Given the description of an element on the screen output the (x, y) to click on. 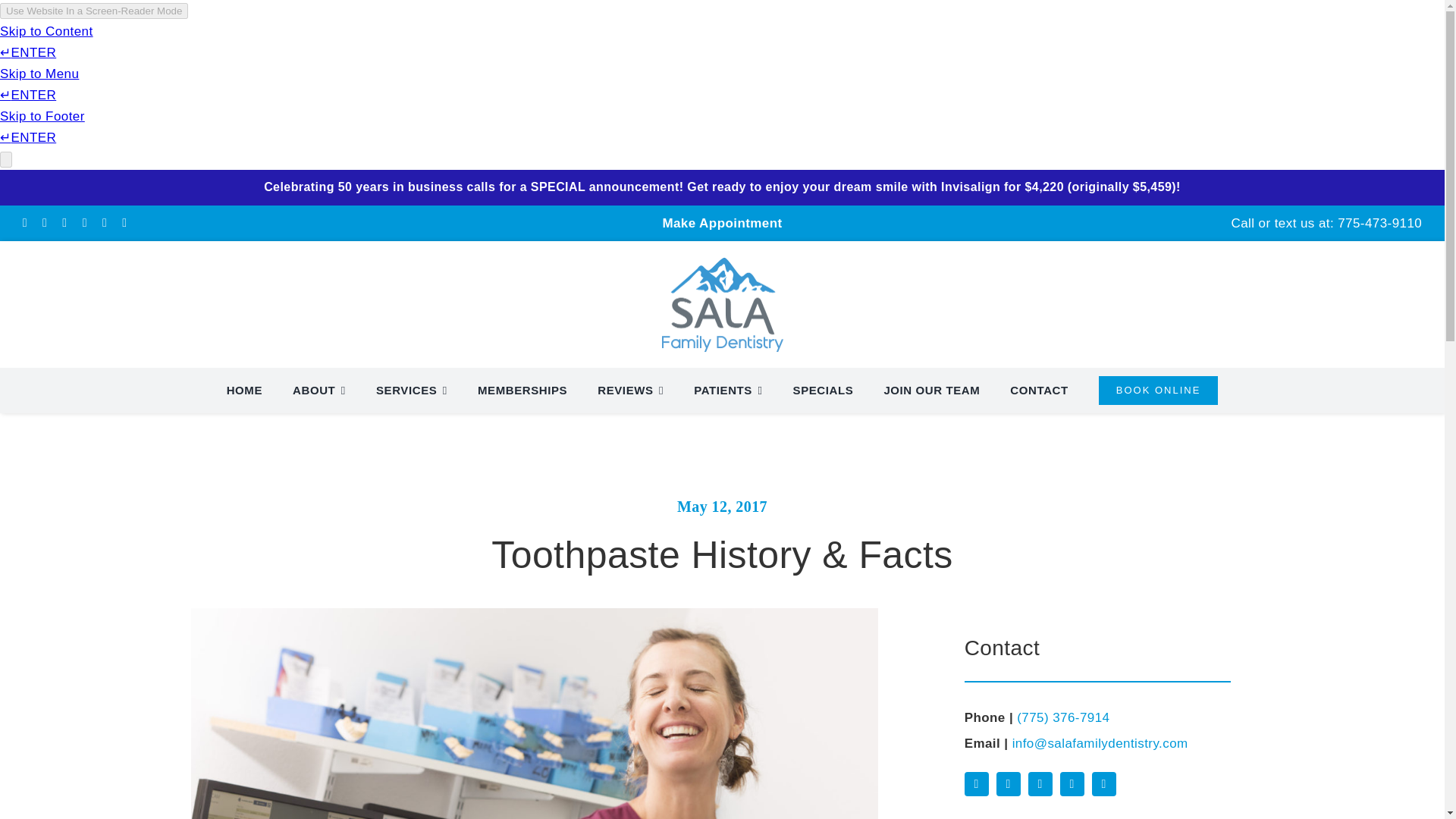
Instagram (1007, 784)
Tiktok (1071, 784)
775-473-9110 (1380, 223)
LinkedIn (1039, 784)
SERVICES (410, 390)
Make Appointment (721, 223)
ABOUT (319, 390)
HOME (244, 390)
Facebook (975, 784)
YouTube (1104, 784)
